Given the description of an element on the screen output the (x, y) to click on. 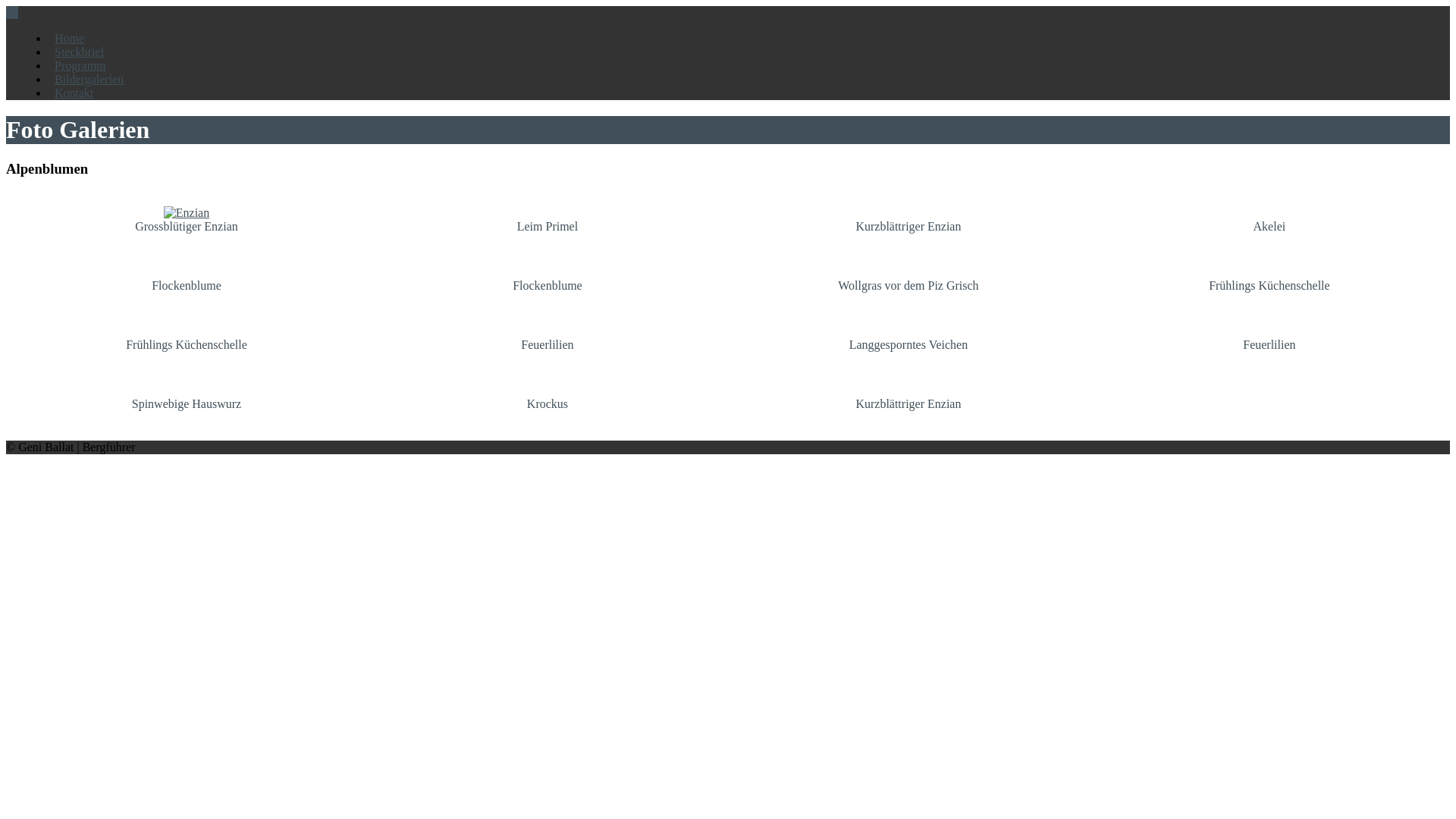
Krockus Element type: text (547, 414)
Feuerlilien Element type: text (1269, 355)
Bildergalerien Element type: text (88, 78)
Wollgras vor dem Piz Grisch Element type: text (908, 296)
Leim Primel Element type: text (547, 237)
Programm Element type: text (80, 65)
Langgesporntes Veichen Element type: text (908, 355)
Kontakt Element type: text (74, 92)
Home Element type: text (69, 37)
Feuerlilien Element type: text (547, 355)
Spinwebige Hauswurz Element type: text (186, 414)
Flockenblume Element type: text (186, 296)
Flockenblume Element type: text (547, 296)
Steckbrief Element type: text (79, 51)
Akelei Element type: text (1269, 237)
